Given the description of an element on the screen output the (x, y) to click on. 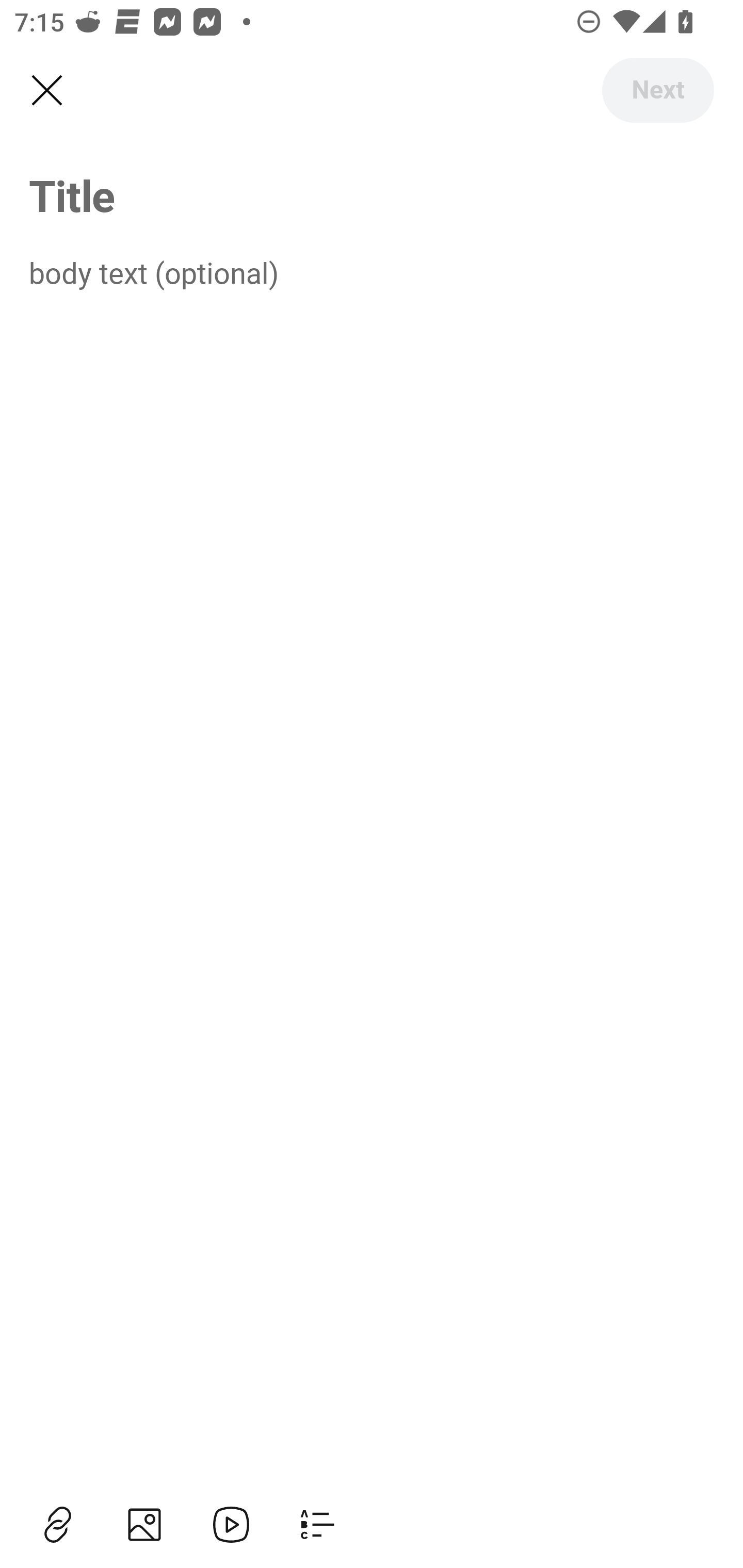
Close (46, 90)
Next (657, 90)
Post title (371, 195)
body text (optional) (371, 271)
